Given the description of an element on the screen output the (x, y) to click on. 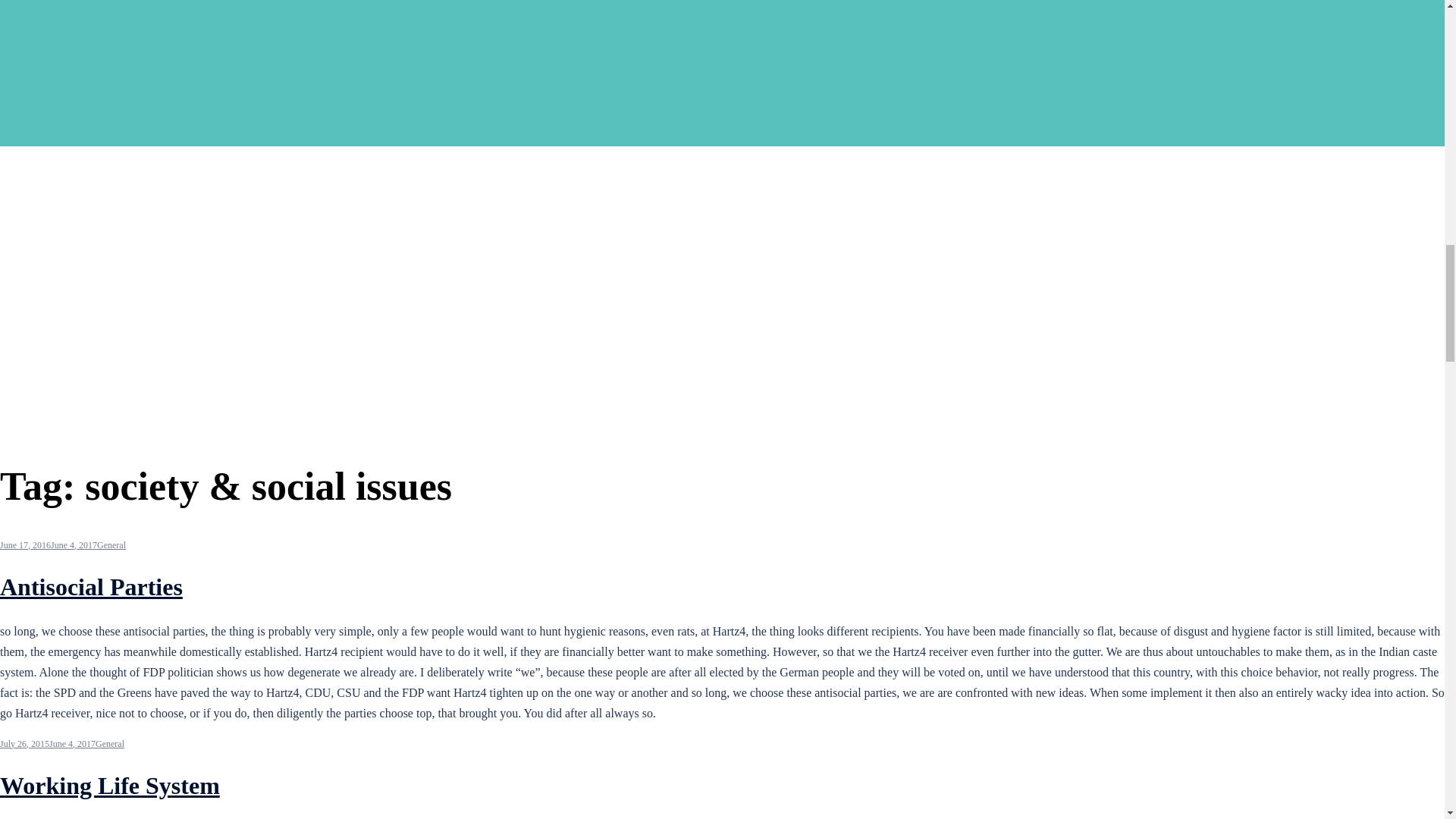
General (109, 743)
June 17, 2016June 4, 2017 (48, 544)
Working Life System (109, 785)
Antisocial Parties (91, 586)
General (111, 544)
July 26, 2015June 4, 2017 (48, 743)
